Given the description of an element on the screen output the (x, y) to click on. 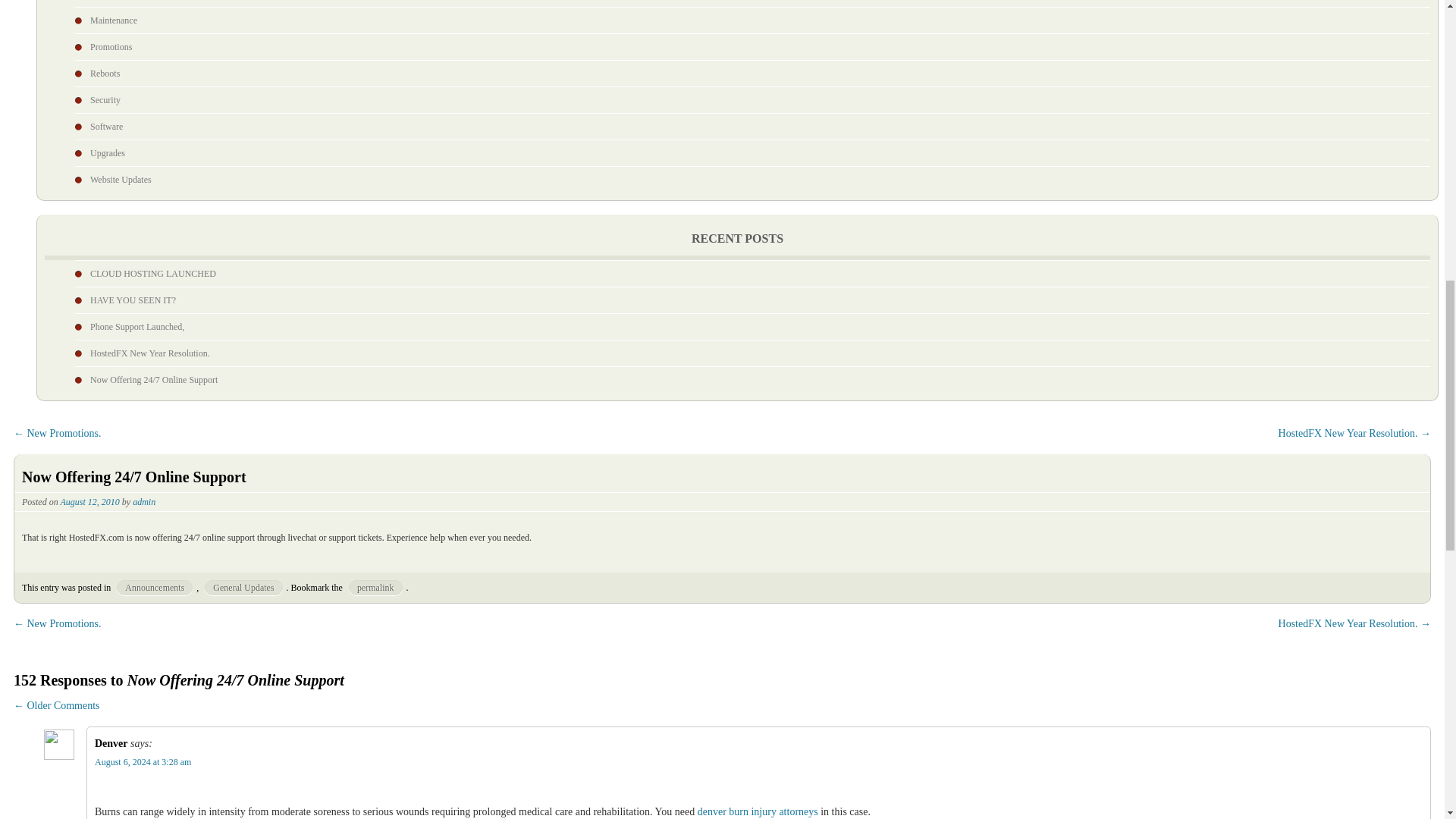
View all posts filed under Maintenance (113, 20)
View all posts filed under Upgrades (107, 153)
View all posts filed under Security (105, 100)
View all posts filed under Software (106, 126)
View all posts filed under Promotions (111, 46)
View all posts filed under Reboots (104, 72)
